Given the description of an element on the screen output the (x, y) to click on. 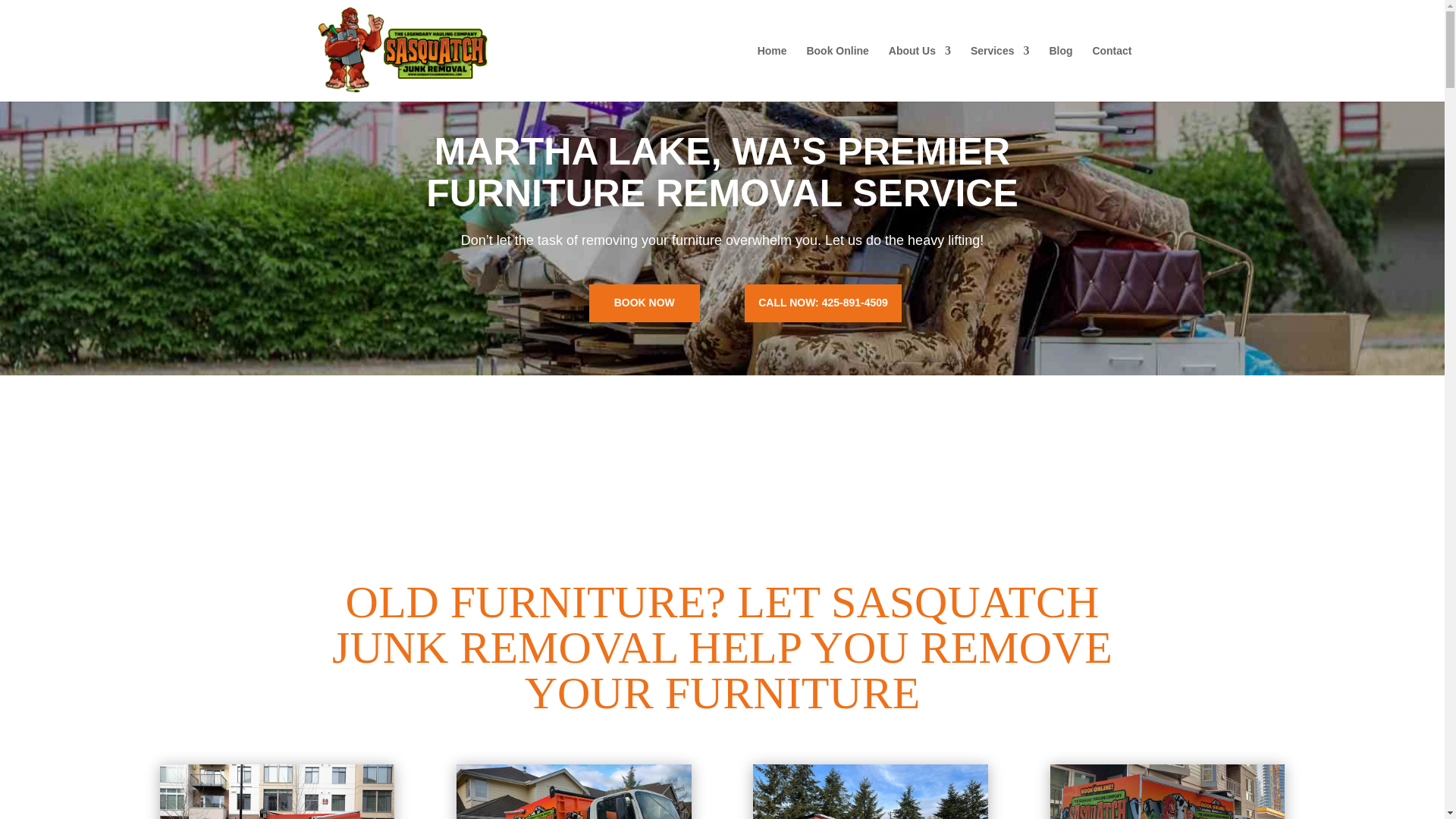
BOOK NOW (644, 303)
Book Online (836, 73)
we-donate-1 (574, 791)
best-results-1 (1167, 791)
About Us (919, 73)
fast-haul-1 (870, 791)
Services (1000, 73)
CALL NOW: 425-891-4509 (822, 303)
we recycle (276, 791)
